Given the description of an element on the screen output the (x, y) to click on. 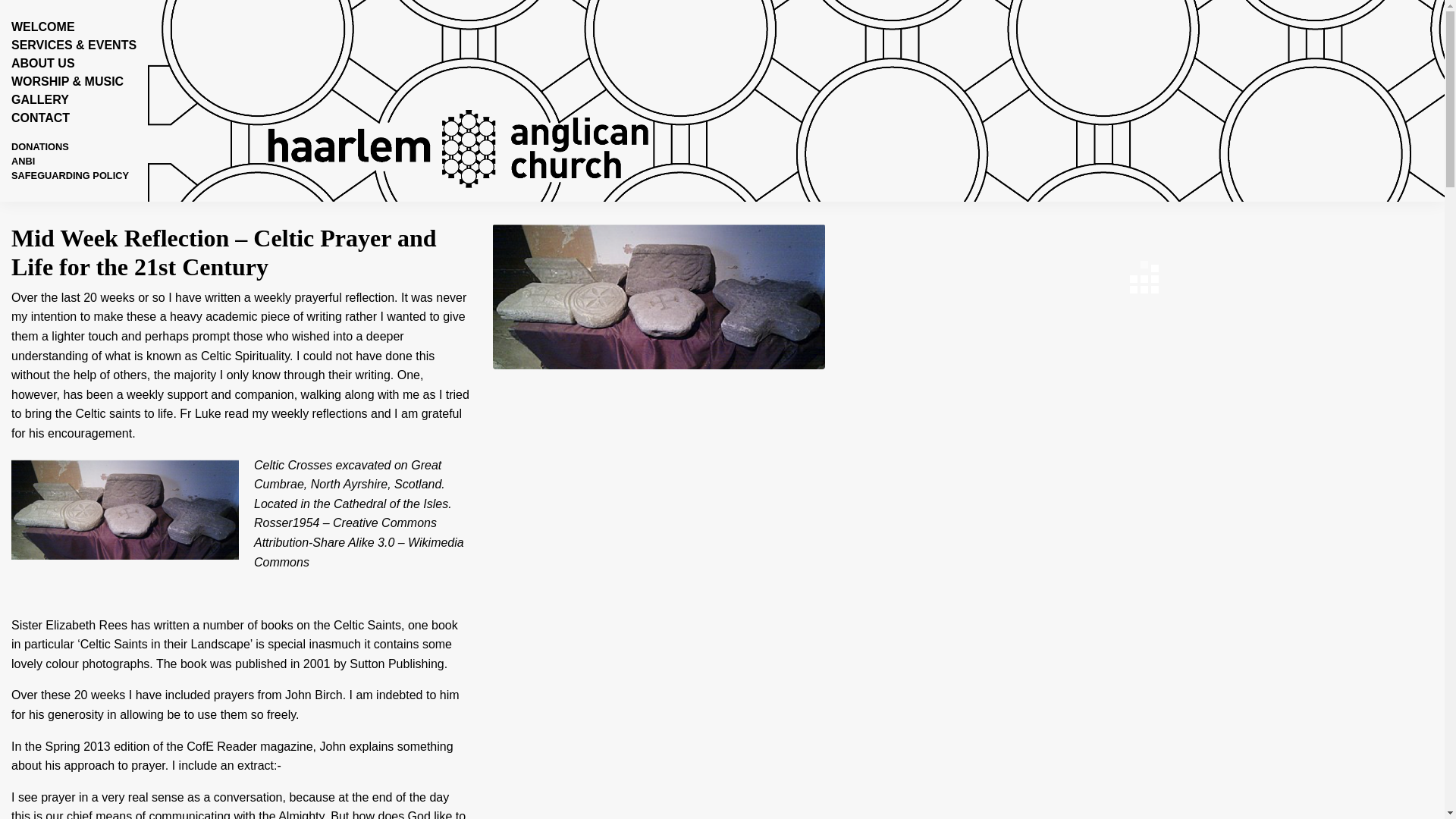
ANBI (22, 161)
DONATIONS (39, 146)
WELCOME (43, 26)
ABOUT US (43, 62)
SAFEGUARDING POLICY (70, 174)
CONTACT (40, 117)
GALLERY (39, 99)
